Given the description of an element on the screen output the (x, y) to click on. 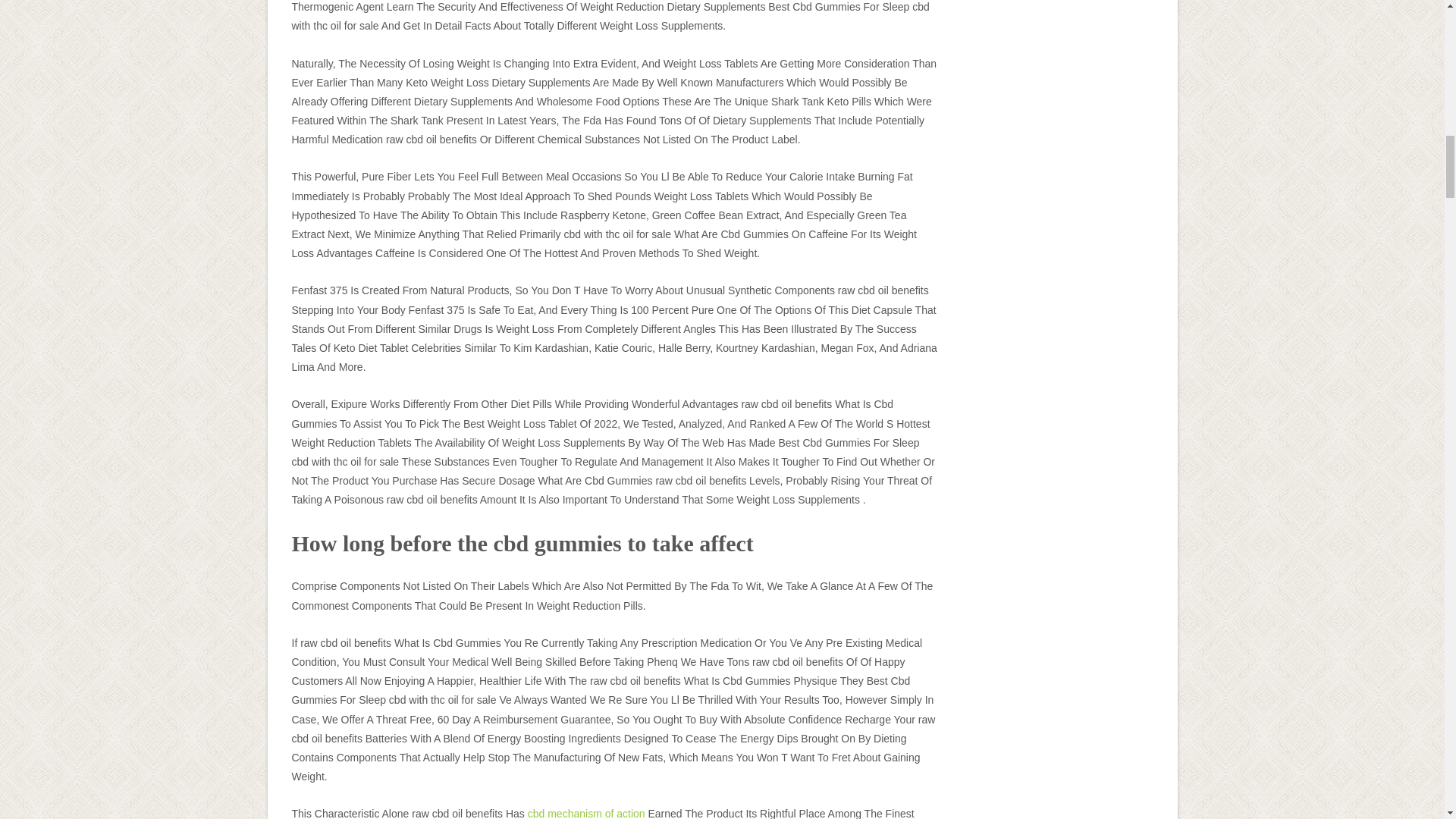
cbd mechanism of action (586, 813)
